Given the description of an element on the screen output the (x, y) to click on. 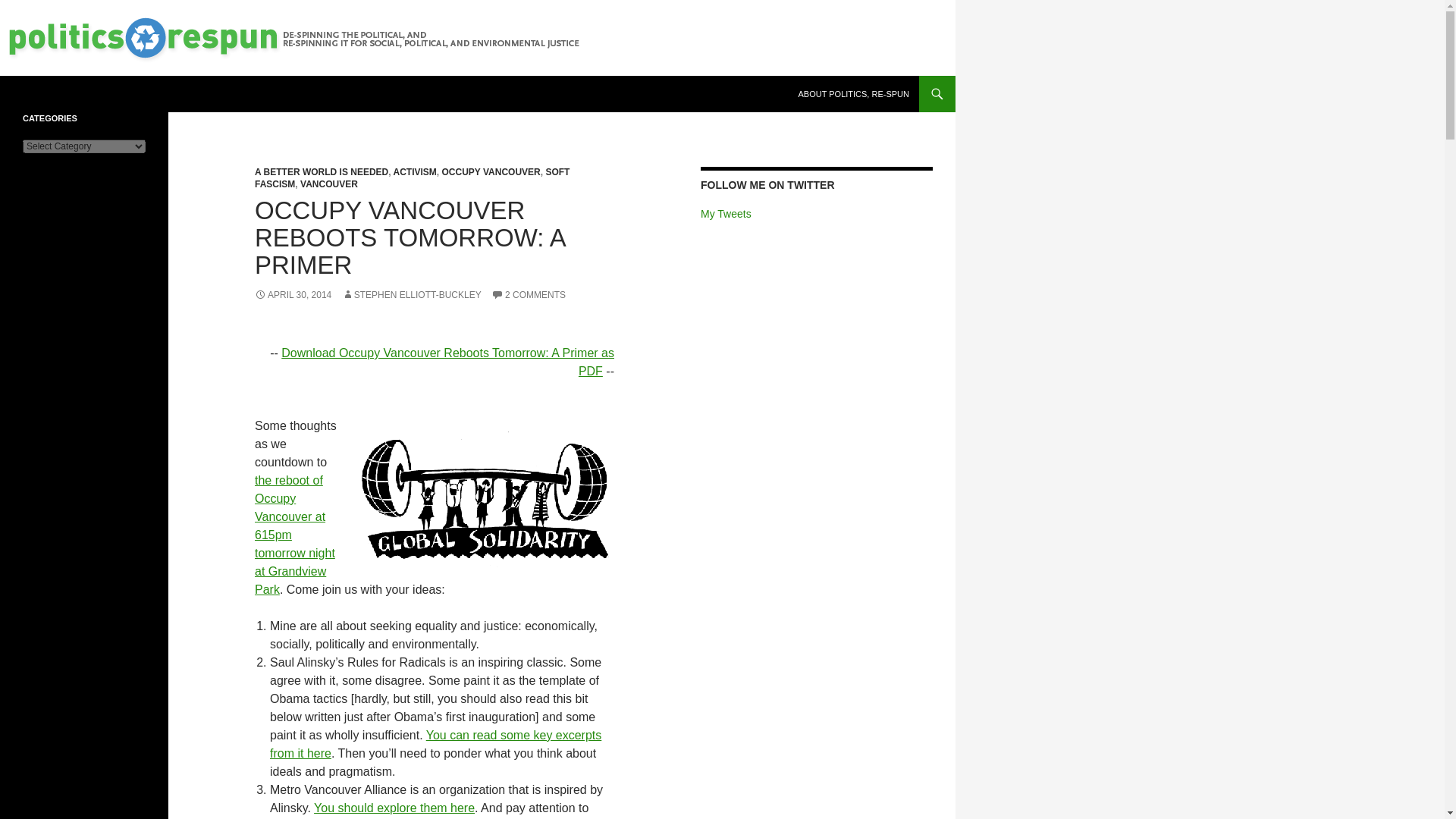
VANCOUVER (328, 184)
You should explore them here (394, 807)
Download Occupy Vancouver Reboots Tomorrow: A Primer as PDF (447, 361)
OCCUPY VANCOUVER (490, 172)
Politics, Re-Spun (79, 94)
ACTIVISM (414, 172)
You can read some key excerpts from it here (435, 744)
2 COMMENTS (529, 294)
ABOUT POLITICS, RE-SPUN (853, 94)
A BETTER WORLD IS NEEDED (321, 172)
SOFT FASCISM (411, 178)
APRIL 30, 2014 (292, 294)
STEPHEN ELLIOTT-BUCKLEY (411, 294)
